Given the description of an element on the screen output the (x, y) to click on. 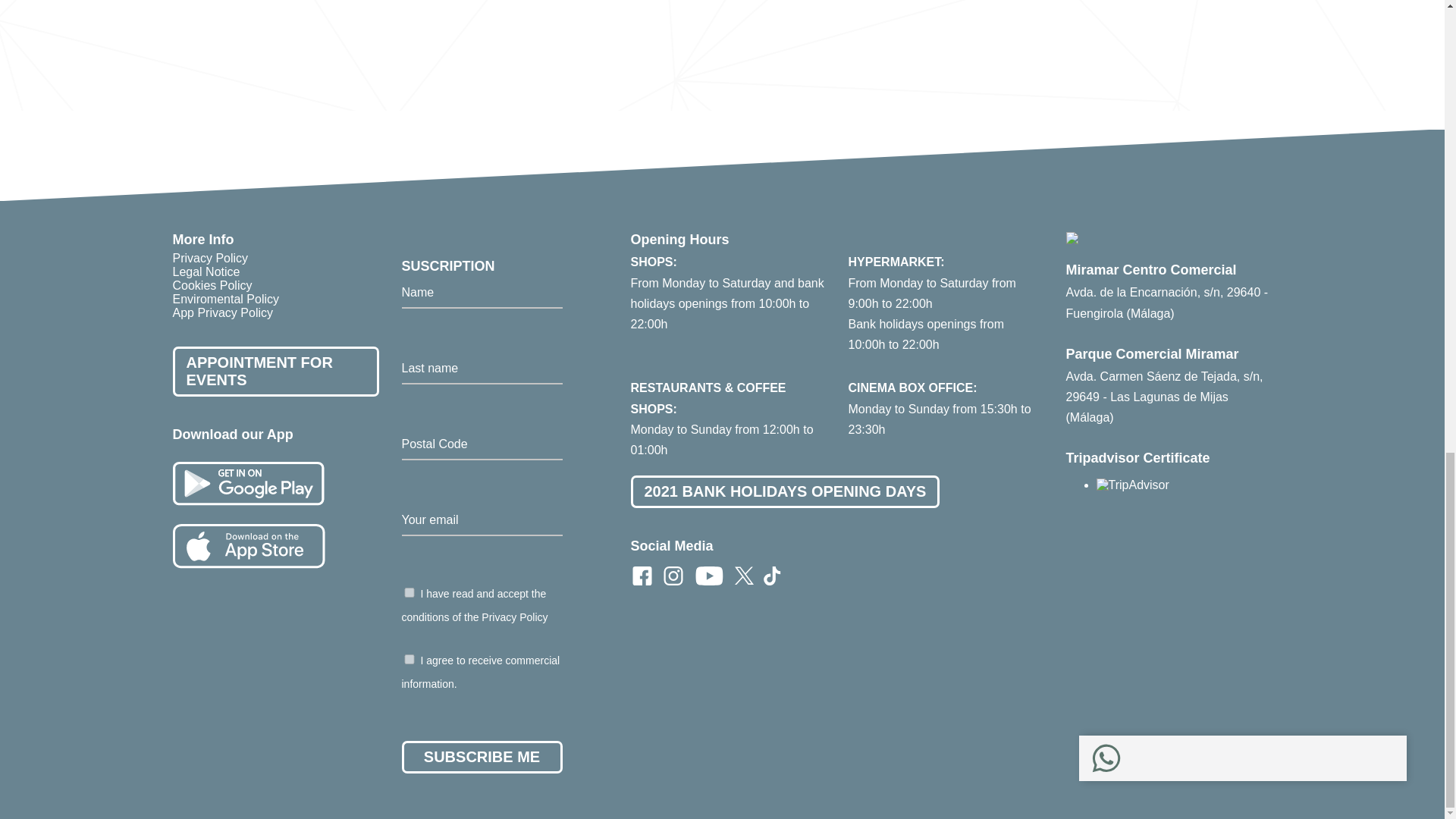
Subscribe me (481, 757)
1 (408, 659)
1 (408, 592)
